Given the description of an element on the screen output the (x, y) to click on. 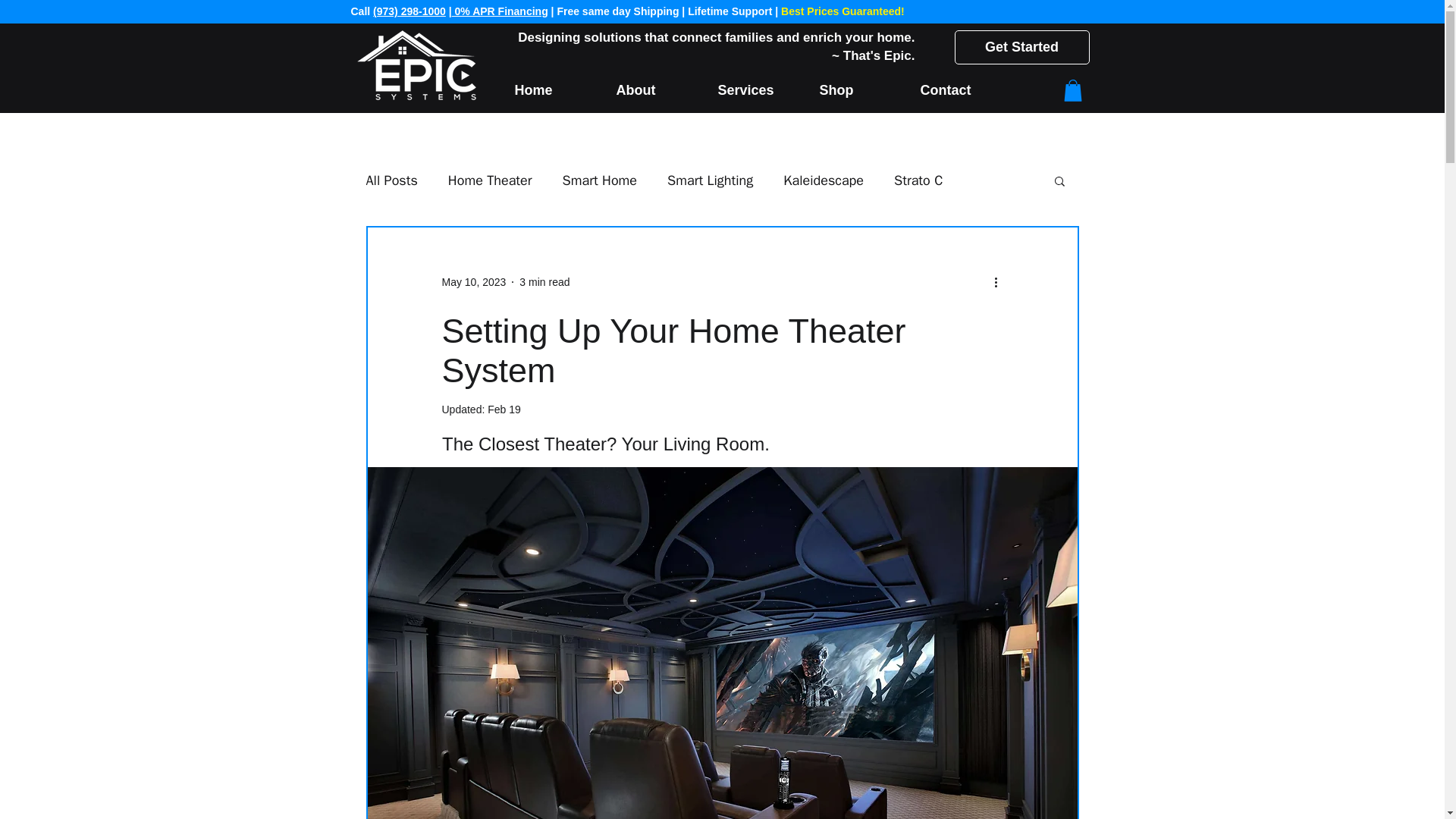
Shop (858, 90)
Smart Home (599, 180)
Feb 19 (504, 409)
Home (554, 90)
All Posts (390, 180)
Get Started (1021, 47)
3 min read (544, 282)
Home Theater (490, 180)
Epic Home Theater and Smart Home of New Jersey (416, 64)
About (655, 90)
